Given the description of an element on the screen output the (x, y) to click on. 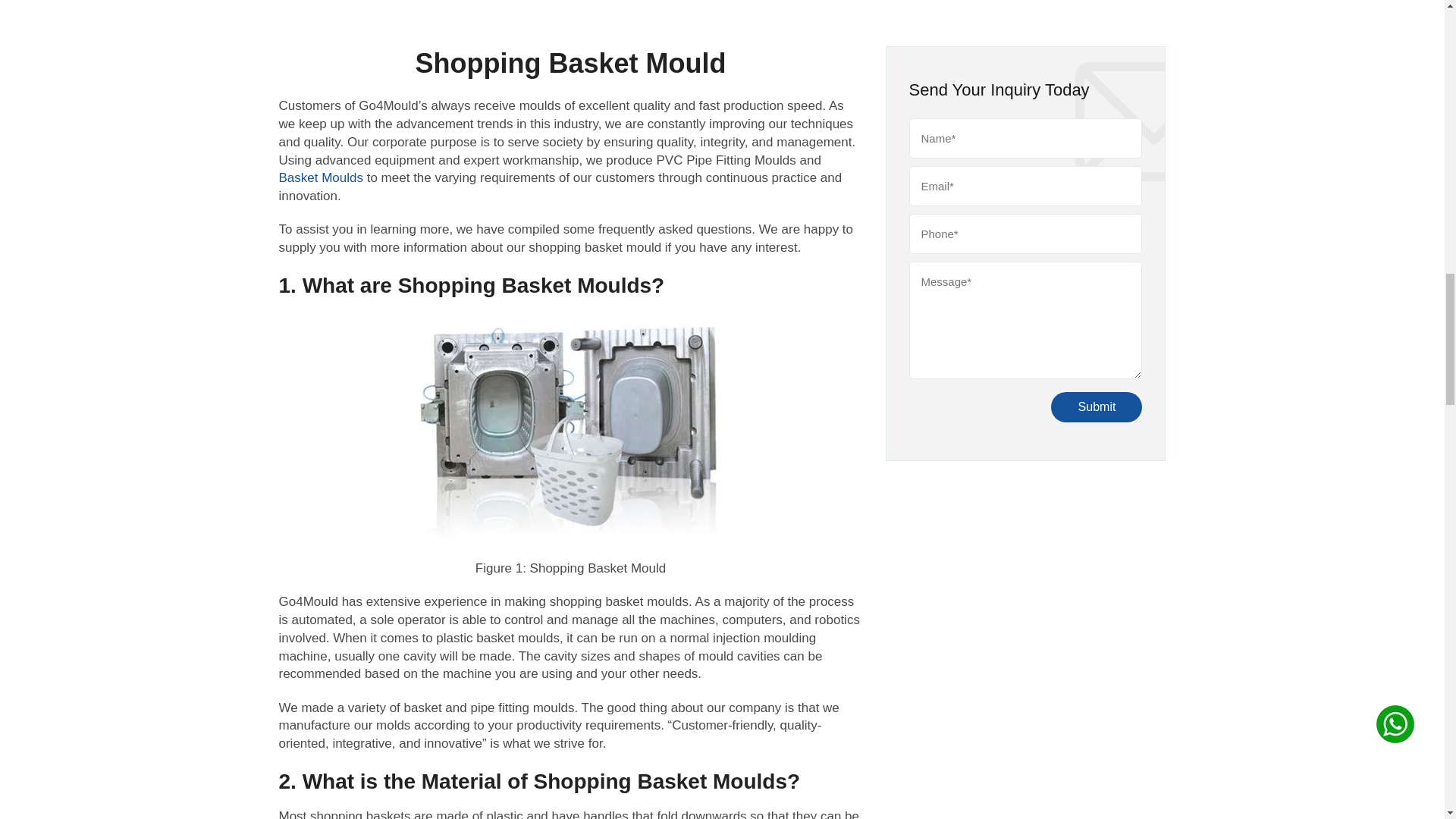
Submit (1096, 407)
